Given the description of an element on the screen output the (x, y) to click on. 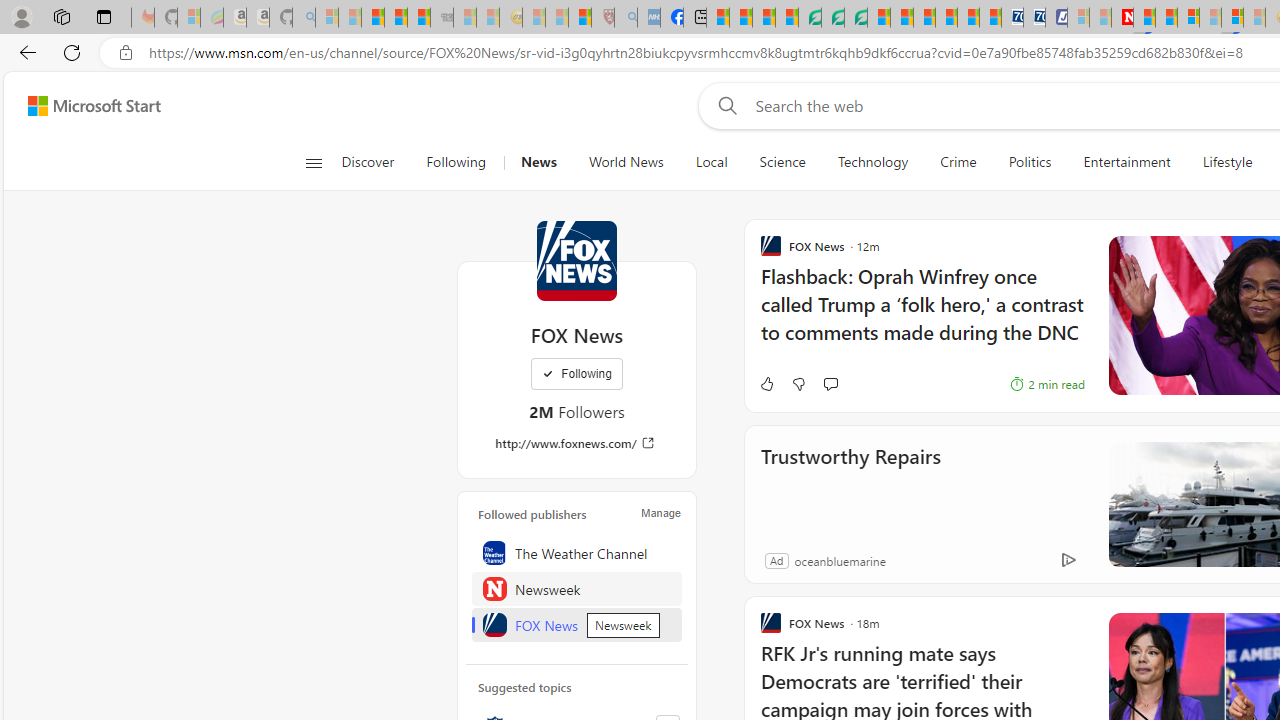
Latest Politics News & Archive | Newsweek.com (1122, 17)
